Given the description of an element on the screen output the (x, y) to click on. 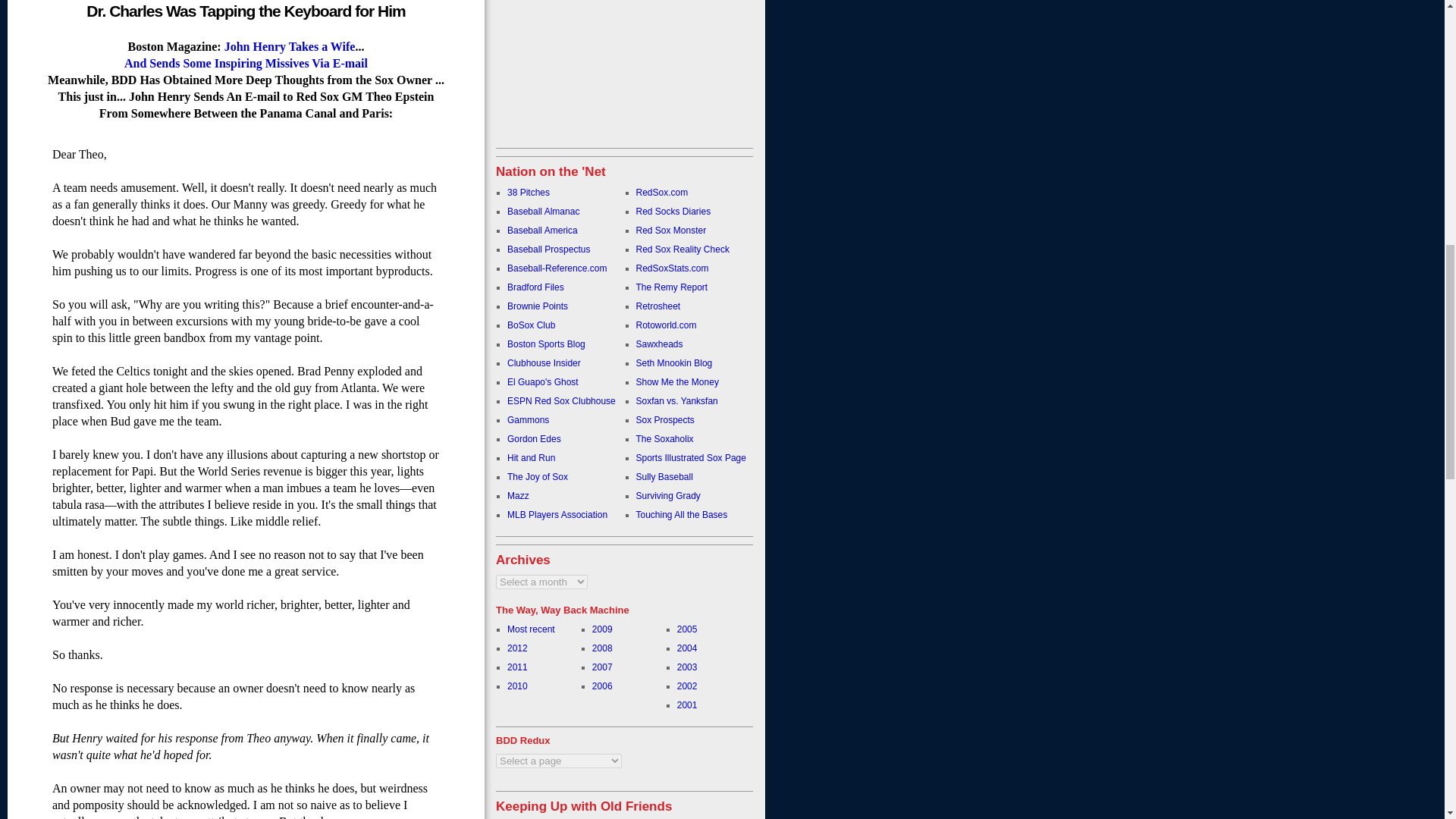
Columns, transaction analysis, metrics, and player cards  (547, 249)
John Henry Takes a Wife (289, 46)
Where the prospects are (542, 230)
The Official Baseball History Site (542, 211)
And Sends Some Inspiring Missives Via E-mail (245, 62)
Schilling may have something to say about that (528, 192)
WEEI's Rob Bradford on baseball and more (535, 286)
The historical baseball statistics website (556, 267)
